Given the description of an element on the screen output the (x, y) to click on. 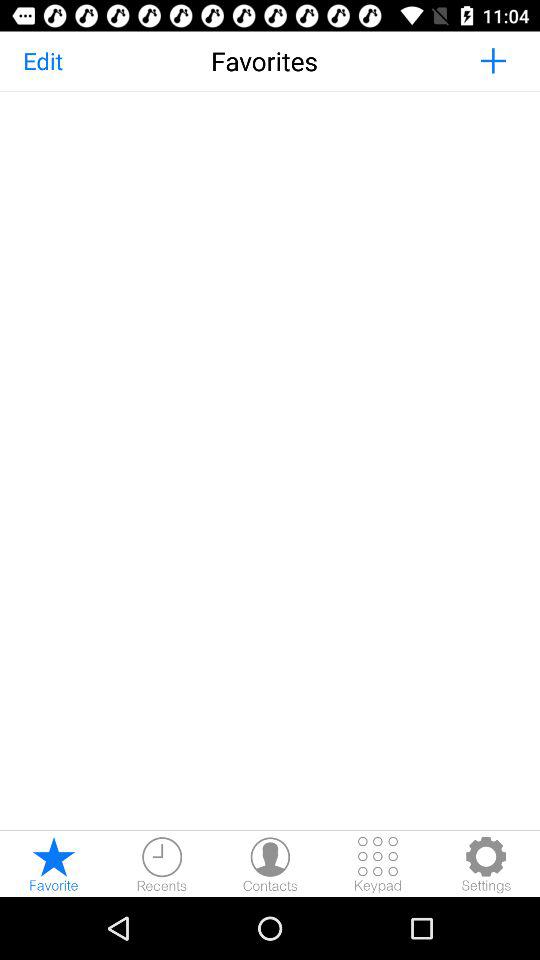
open contact (269, 864)
